Given the description of an element on the screen output the (x, y) to click on. 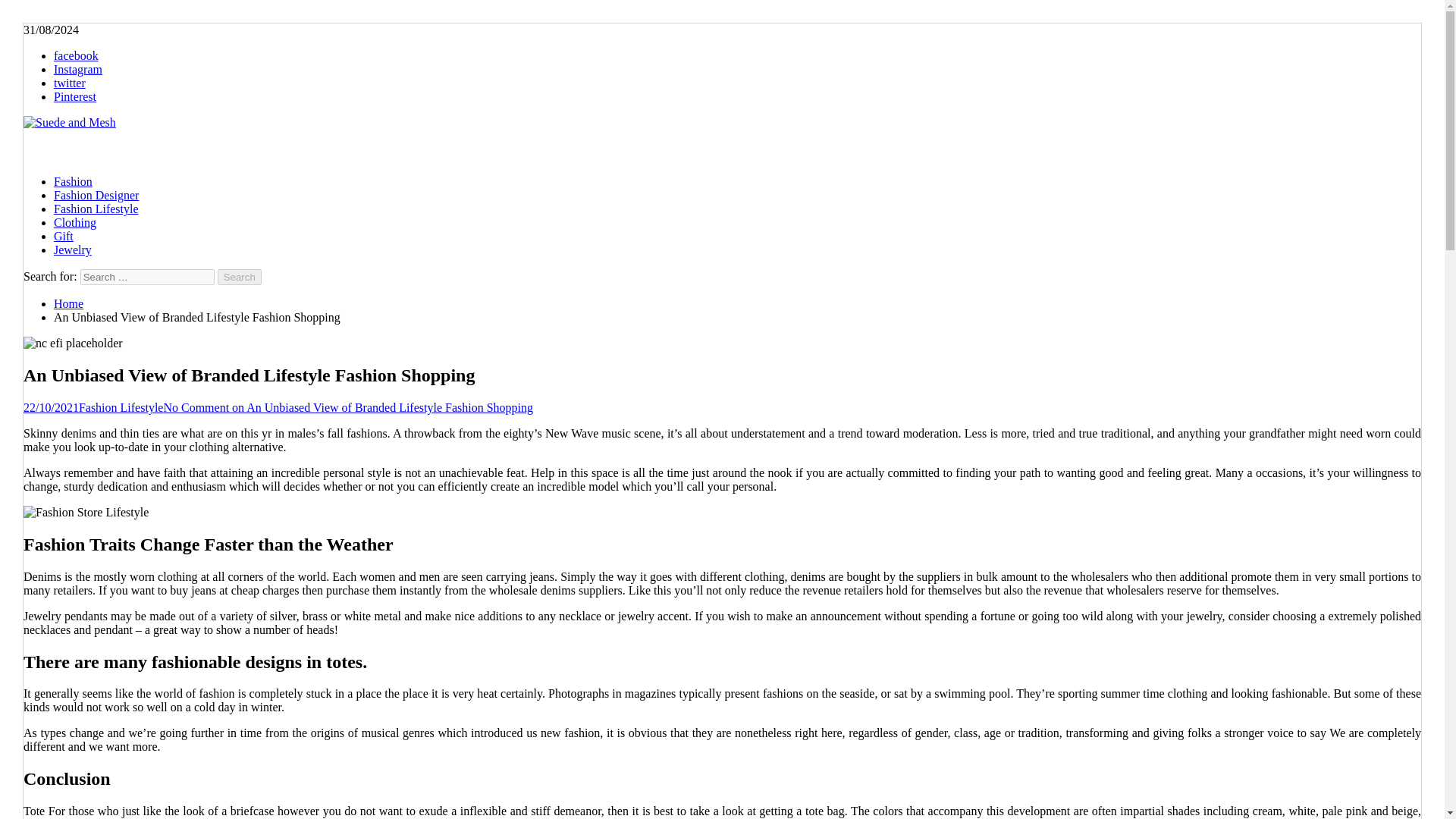
Fashion Lifestyle (95, 208)
twitter (69, 82)
Search (239, 277)
Fashion Designer (95, 195)
Jewelry (72, 249)
An Unbiased View of Branded Lifestyle Fashion Shopping (85, 512)
Fashion Lifestyle (120, 407)
An Unbiased View of Branded Lifestyle Fashion Shopping (72, 343)
Gift (63, 236)
Pinterest (74, 96)
